Given the description of an element on the screen output the (x, y) to click on. 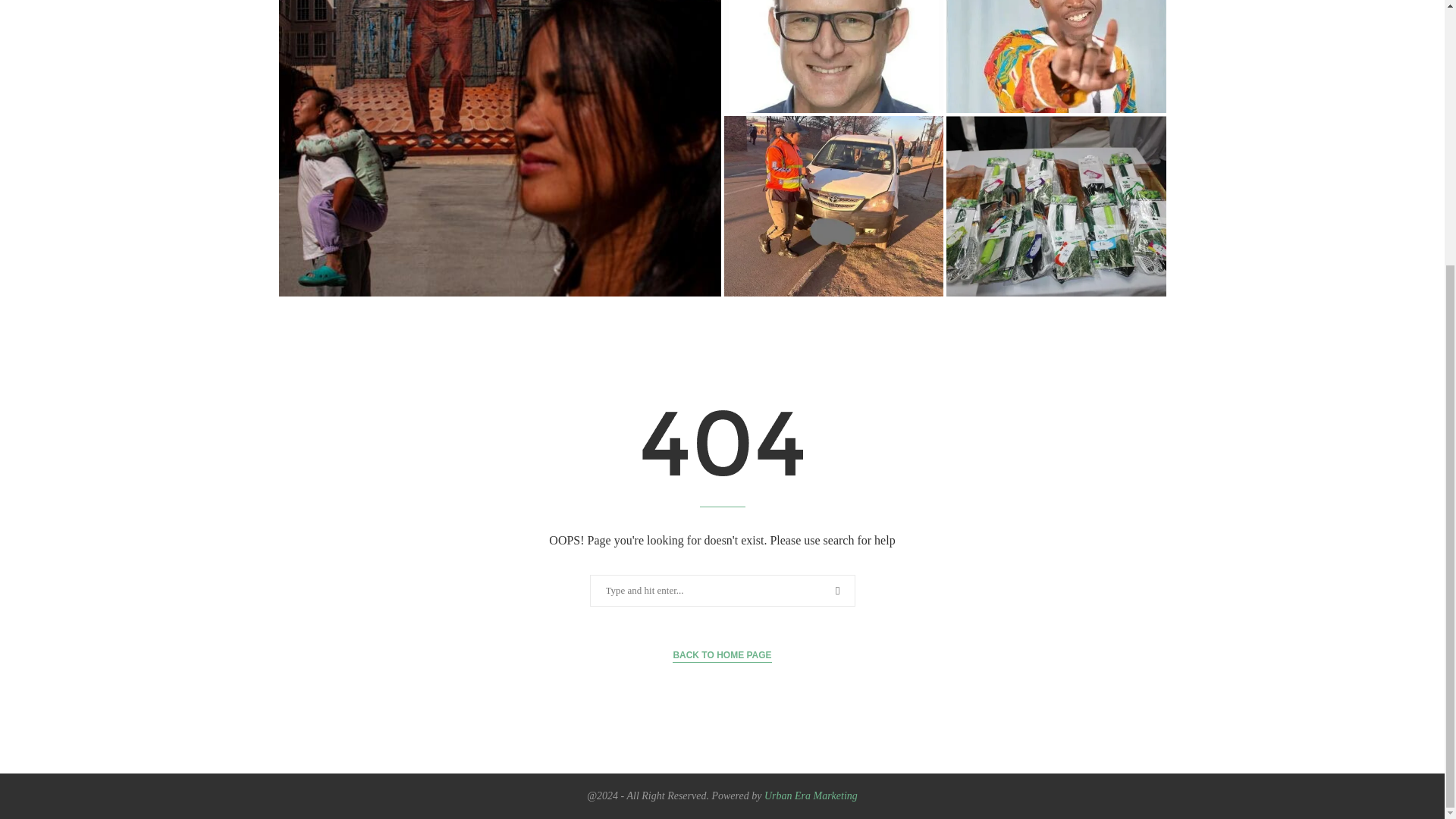
Forum launches home gardening project (1056, 206)
Doctors advise how to protect against mpox (833, 56)
EMPD speaks road safety to learners (833, 206)
Local artist releases new single (1056, 56)
